Given the description of an element on the screen output the (x, y) to click on. 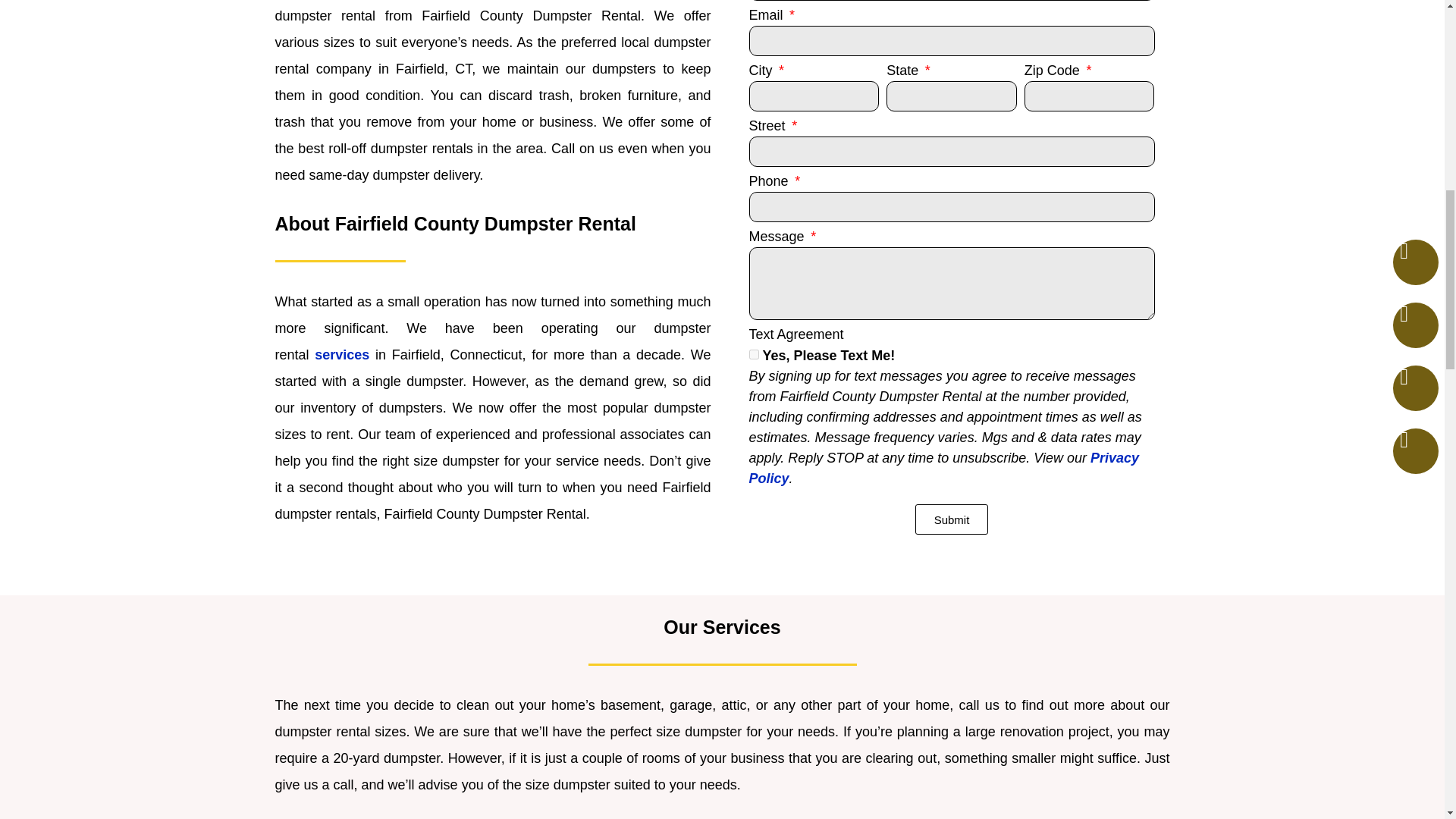
on (753, 354)
